Given the description of an element on the screen output the (x, y) to click on. 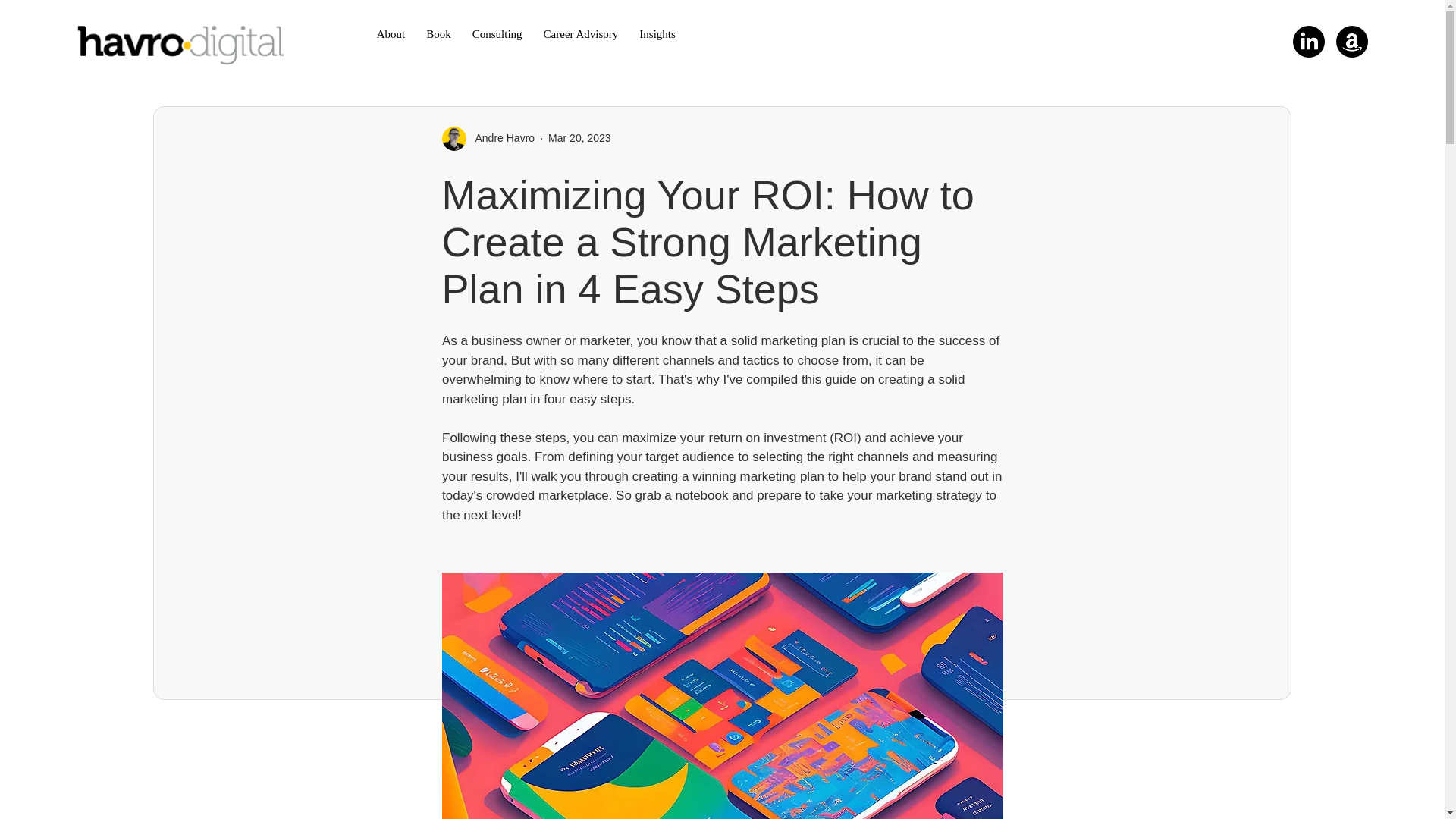
About (390, 34)
Insights (657, 34)
Book (438, 34)
Andre Havro (499, 138)
Consulting (497, 34)
Career Advisory (806, 34)
Mar 20, 2023 (581, 34)
